Given the description of an element on the screen output the (x, y) to click on. 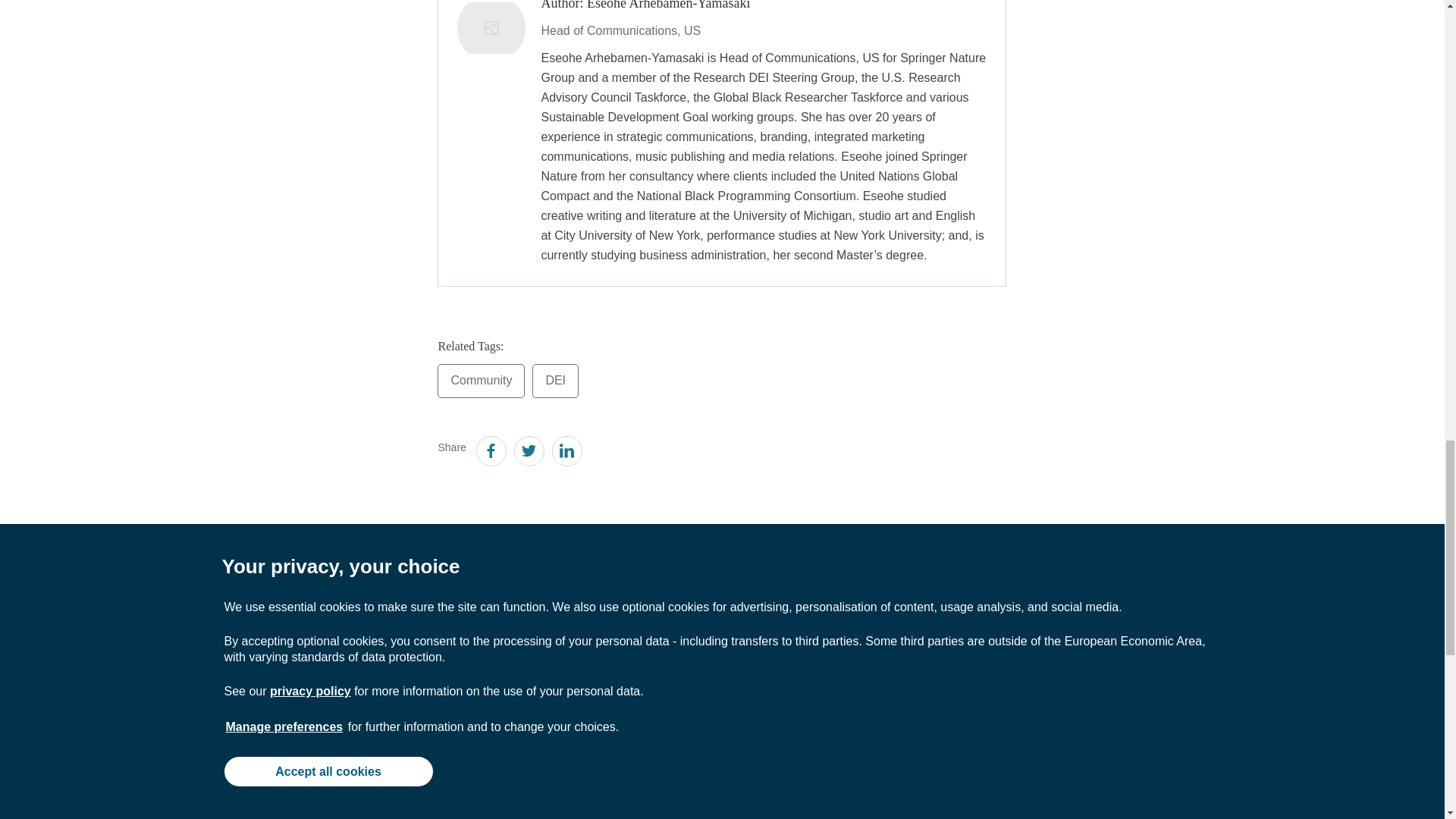
twitter (528, 453)
linkedin (566, 453)
facebook (490, 453)
